Given the description of an element on the screen output the (x, y) to click on. 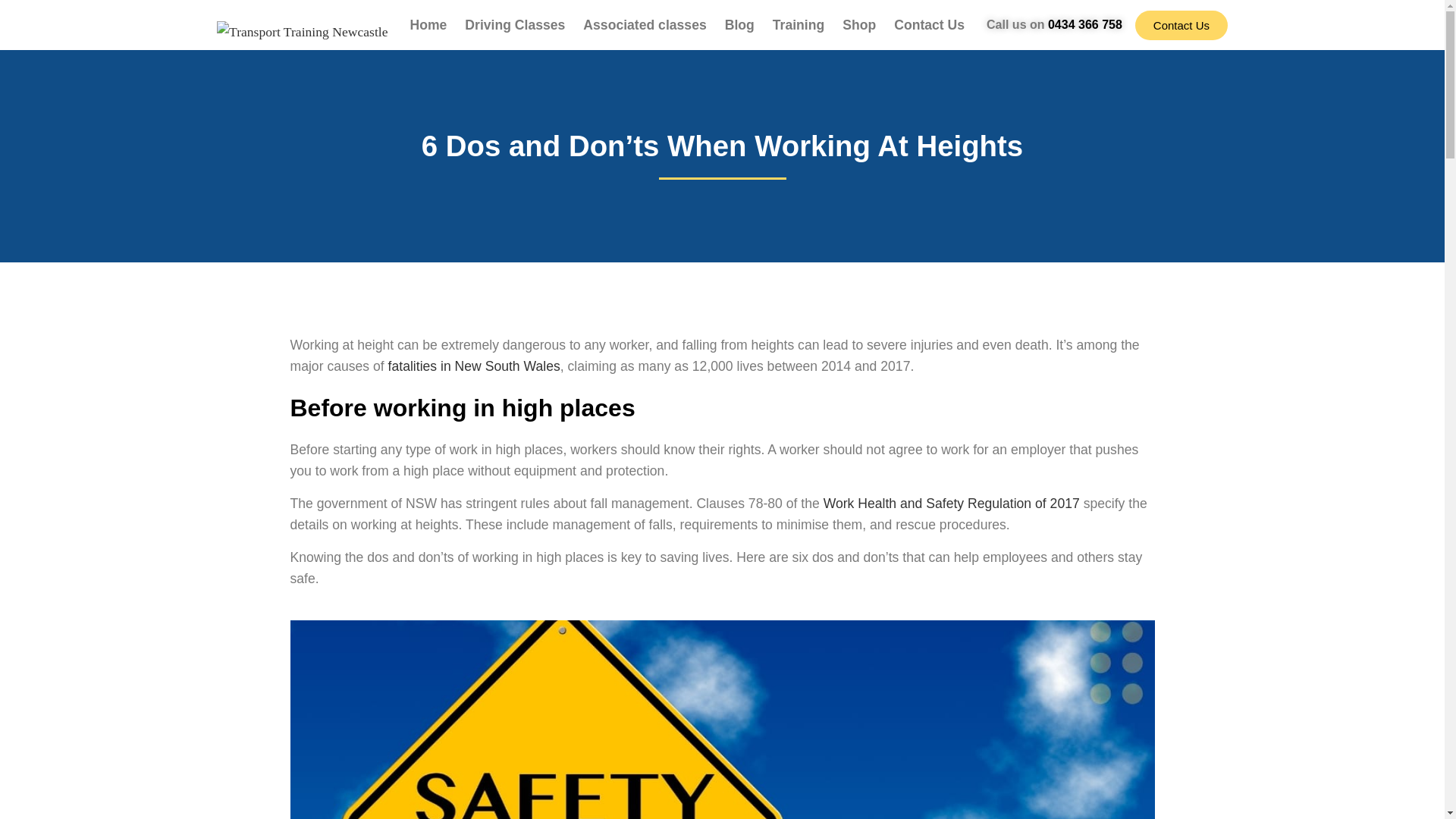
Training (797, 24)
Blog (739, 24)
Contact Us (929, 24)
Driving Classes (514, 24)
Shop (858, 24)
Home (427, 24)
Associated classes (643, 24)
